Given the description of an element on the screen output the (x, y) to click on. 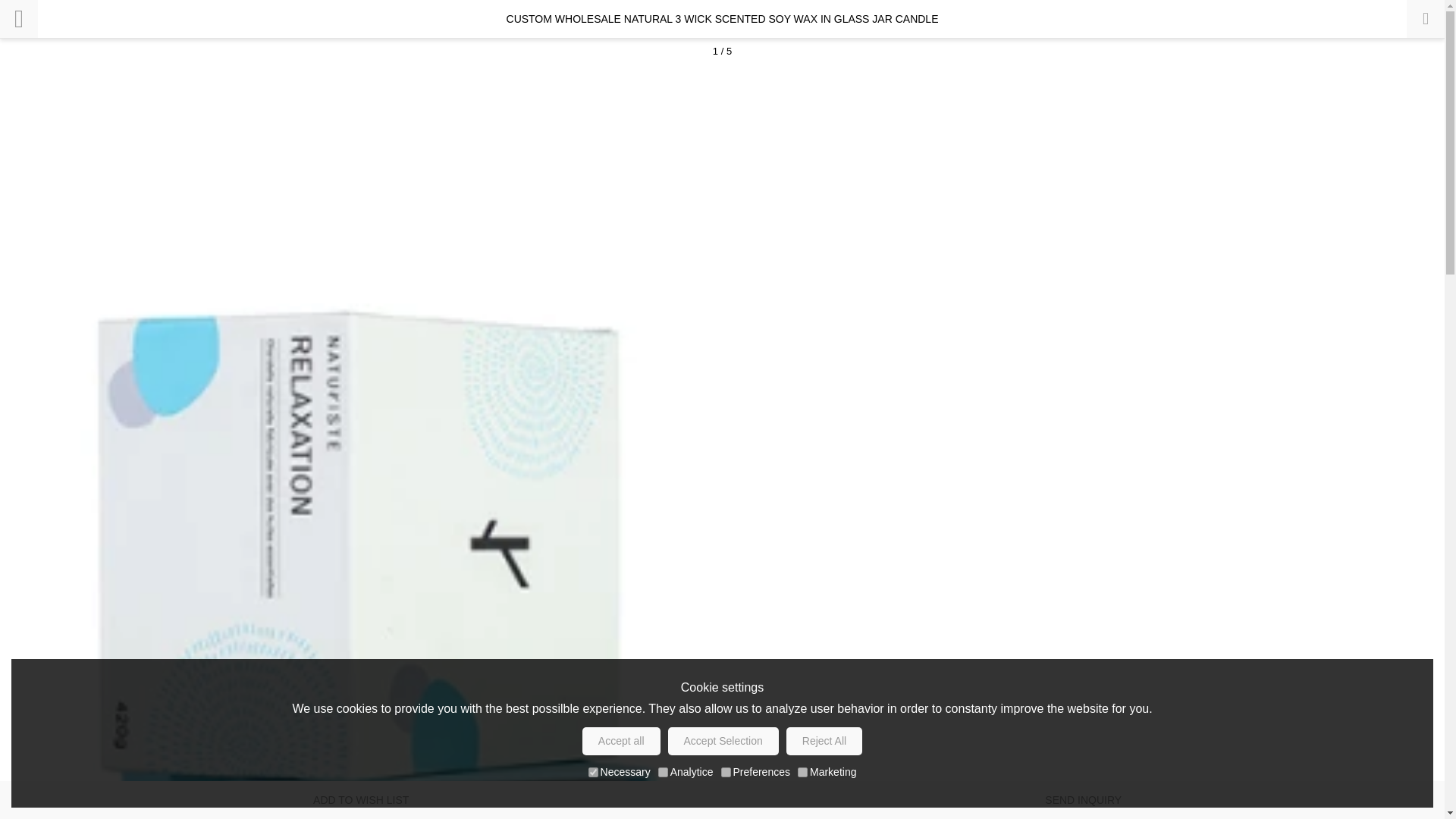
on (725, 772)
Accept Selection (723, 741)
Return (18, 18)
Reject All (823, 741)
on (663, 772)
on (802, 772)
ADD TO WISH LIST (361, 800)
Accept all (621, 741)
on (593, 772)
